Given the description of an element on the screen output the (x, y) to click on. 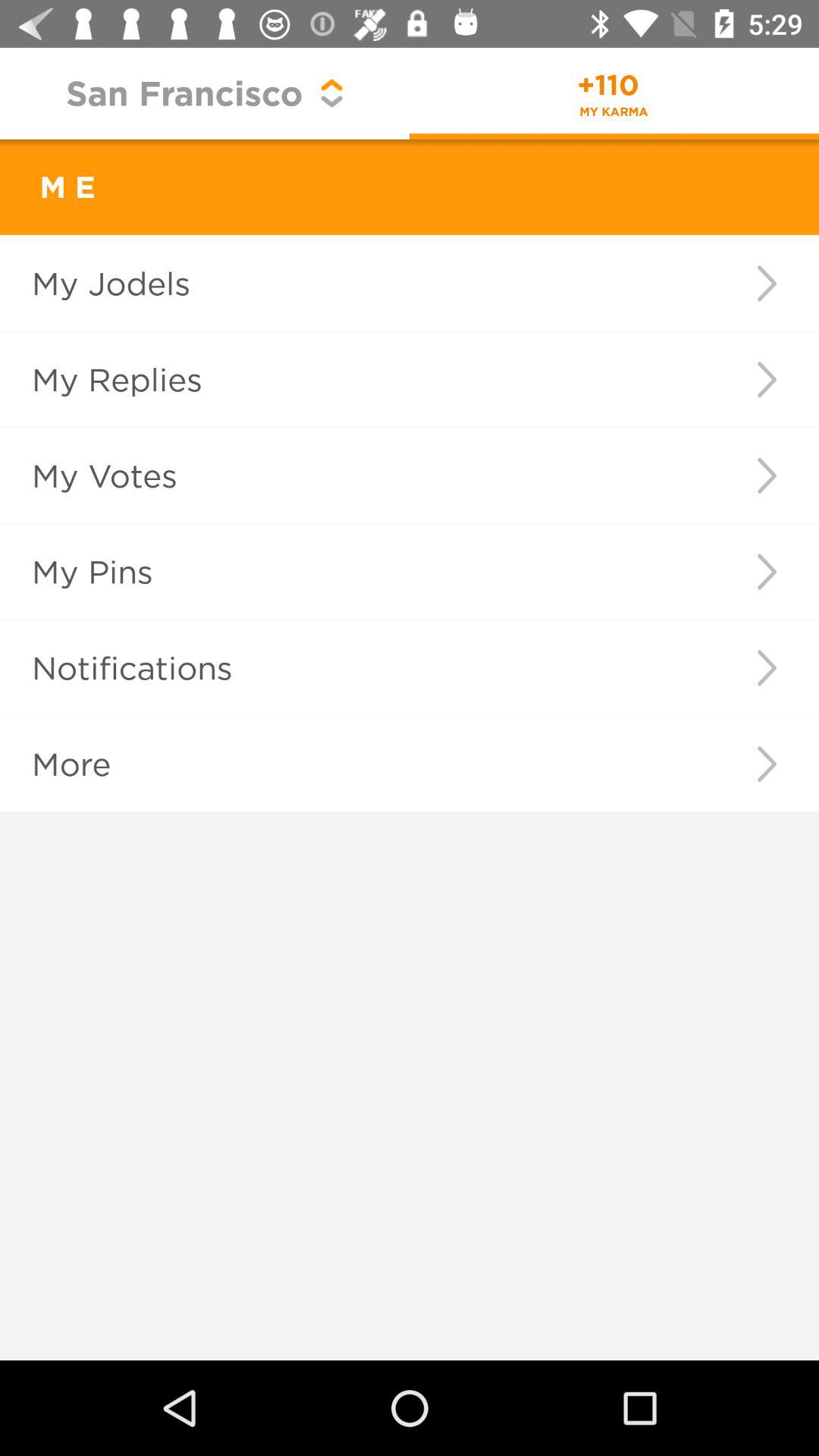
press item next to the my pins (766, 571)
